Given the description of an element on the screen output the (x, y) to click on. 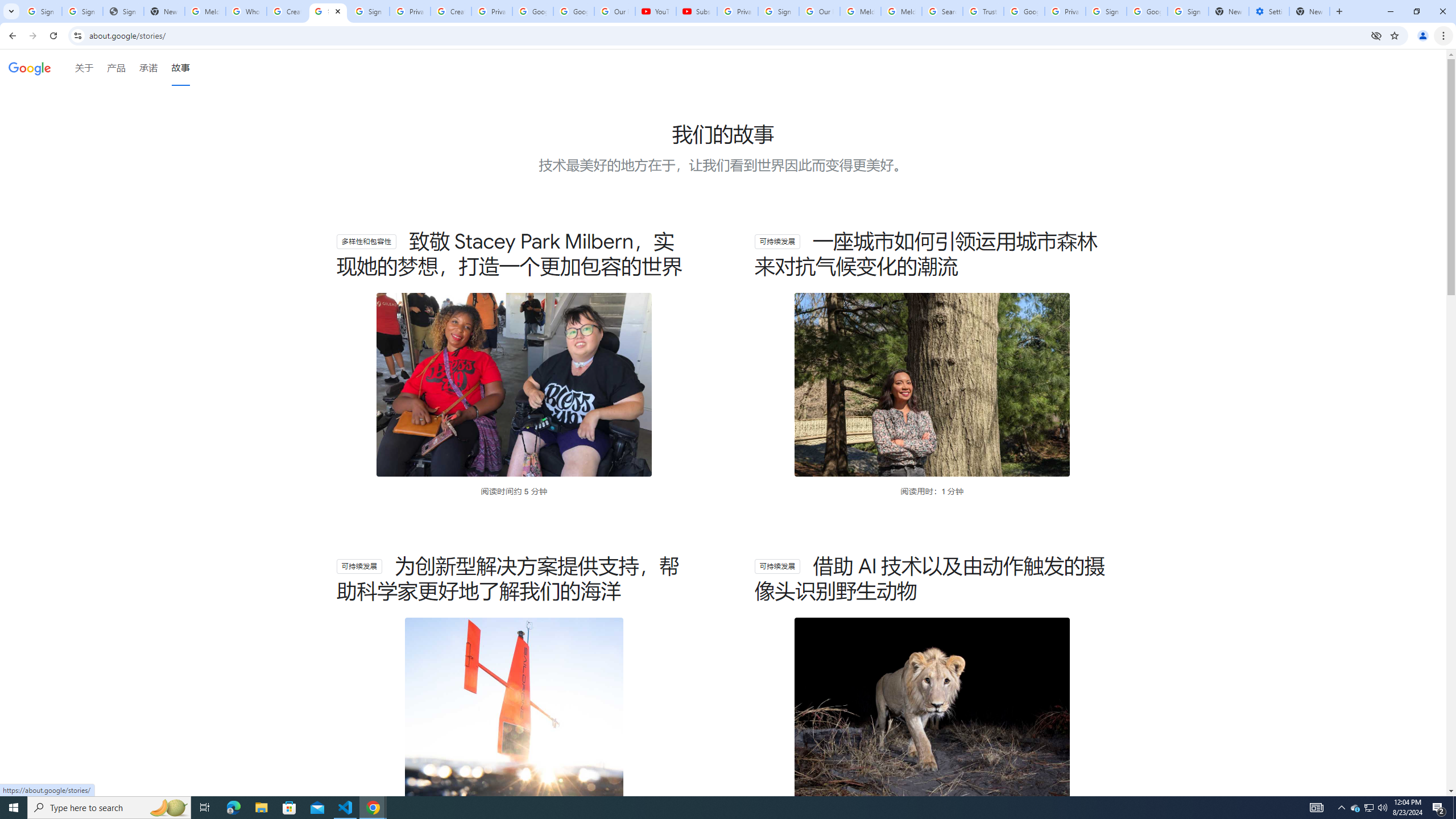
Sign in - Google Accounts (81, 11)
Create your Google Account (450, 11)
Google Cybersecurity Innovations - Google Safety Center (1146, 11)
Subscriptions - YouTube (696, 11)
